Given the description of an element on the screen output the (x, y) to click on. 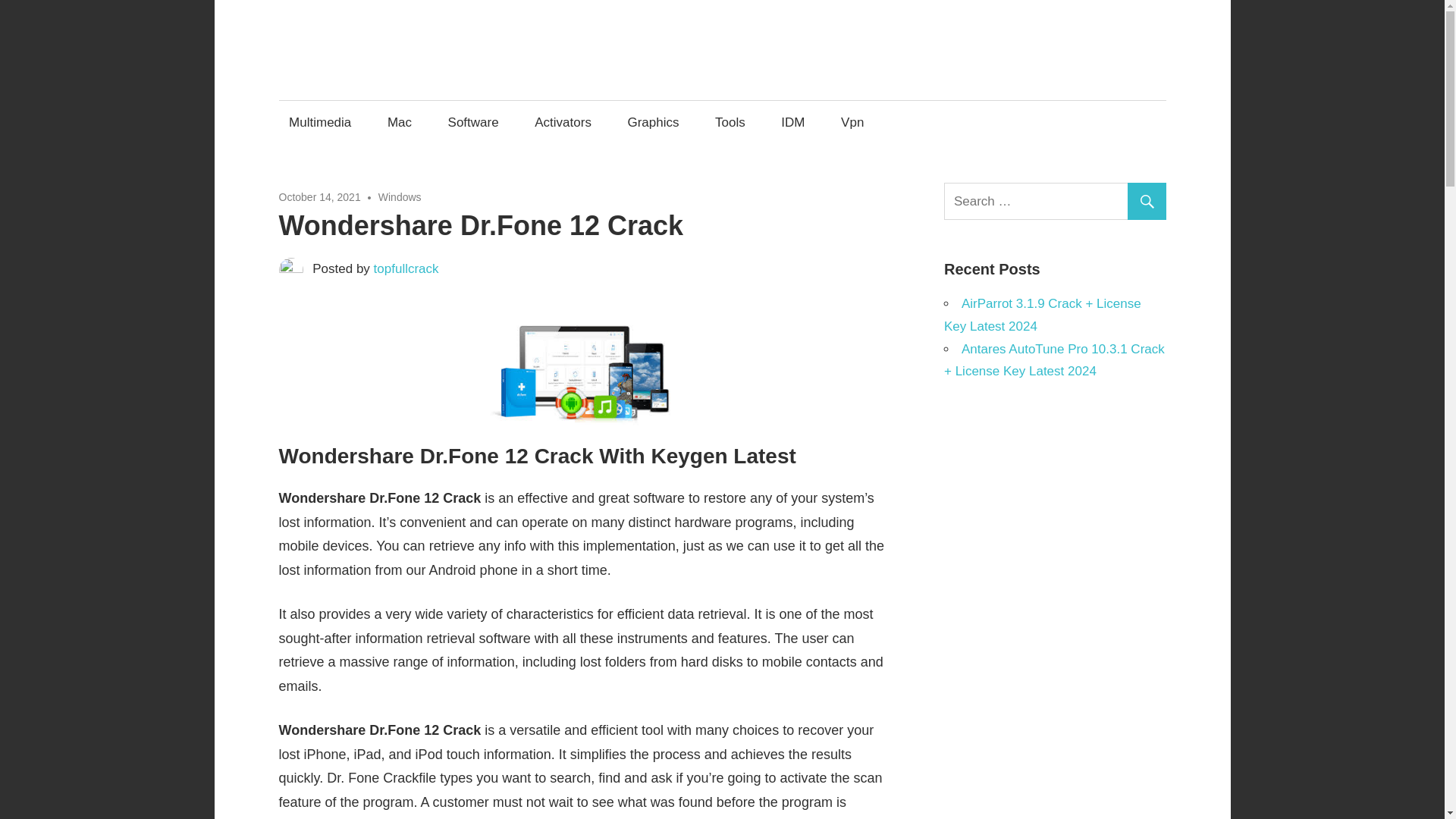
IDM (793, 121)
October 14, 2021 (320, 196)
Mac (399, 121)
Activators (563, 121)
Graphics (652, 121)
Tools (729, 121)
topfullcrack (406, 268)
Software (473, 121)
Windows (400, 196)
3:15 am (320, 196)
